Given the description of an element on the screen output the (x, y) to click on. 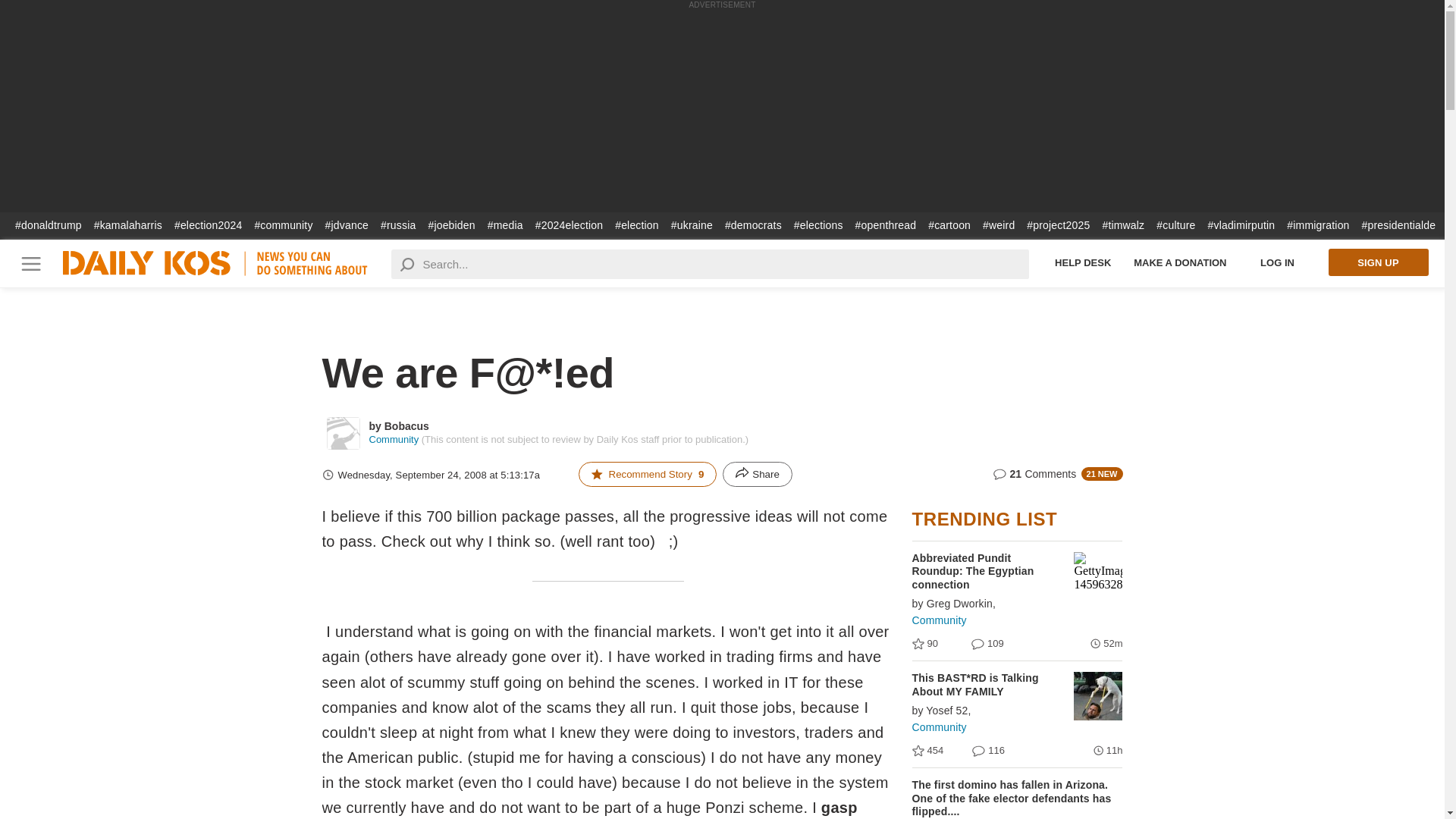
Help Desk (1082, 262)
MAKE A DONATION (1179, 262)
Make a Donation (1179, 262)
